Given the description of an element on the screen output the (x, y) to click on. 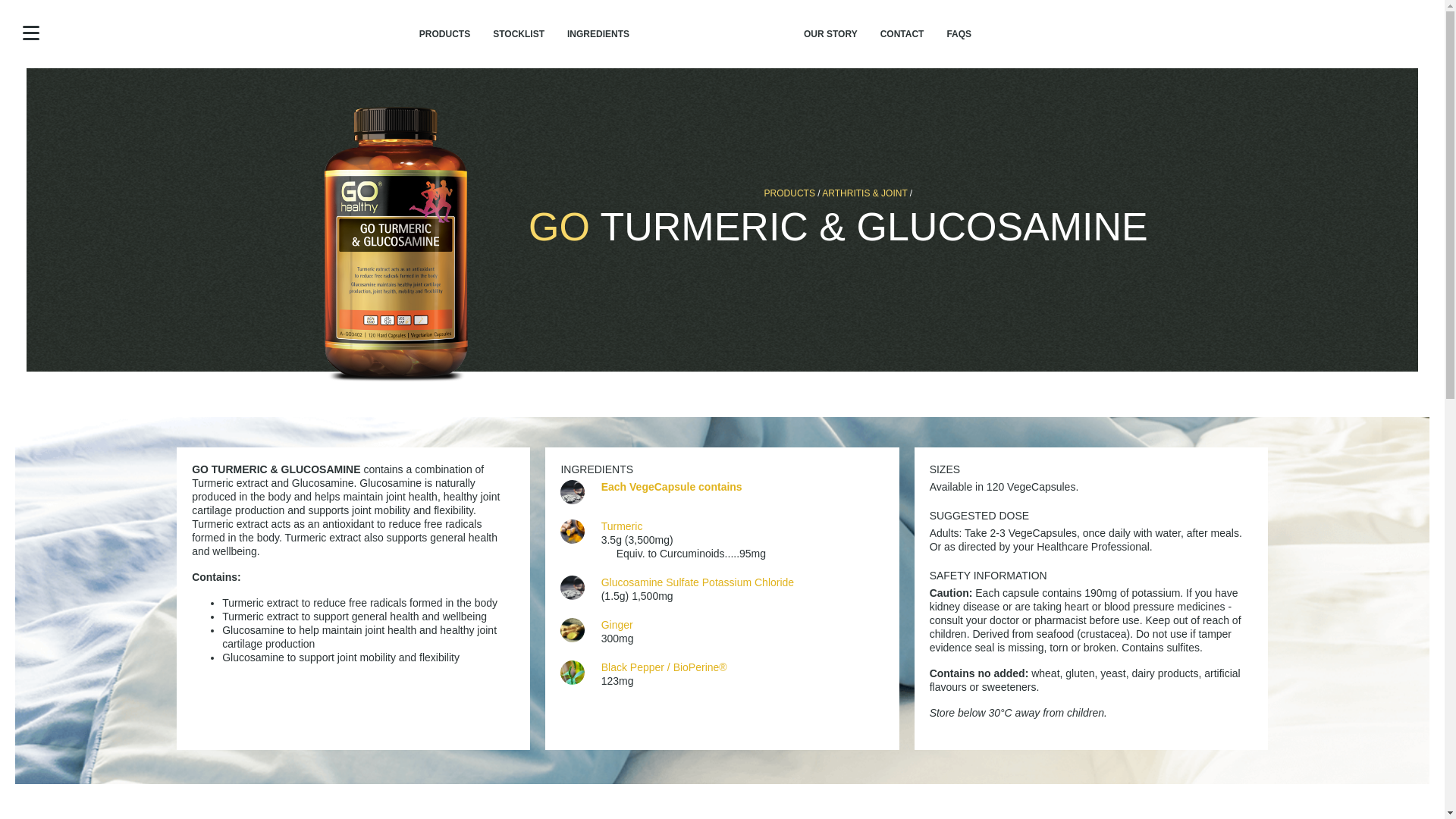
FAQS (958, 33)
PRODUCTS (789, 193)
INGREDIENTS (598, 33)
CONTACT (902, 33)
OUR STORY (830, 33)
PRODUCTS (444, 33)
STOCKLIST (518, 33)
